Given the description of an element on the screen output the (x, y) to click on. 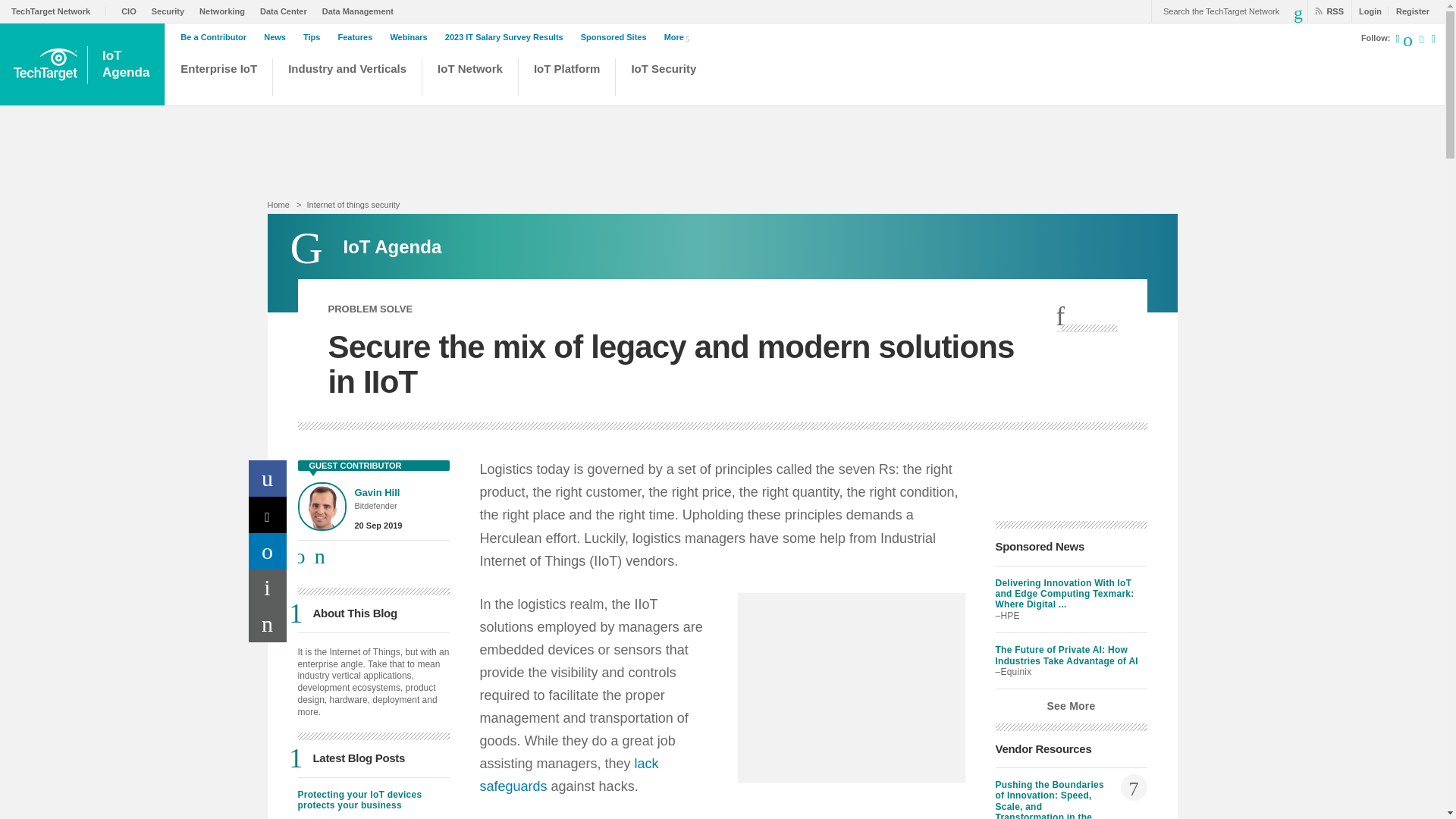
Enterprise IoT (218, 79)
Share on X (267, 514)
News (278, 36)
Share on Facebook (267, 478)
Sponsored Sites (616, 36)
RSS (1323, 10)
TechTarget Network (58, 10)
Register (1408, 10)
Webinars (411, 36)
More (679, 36)
Security (171, 10)
Networking (225, 10)
Features (358, 36)
Login (127, 64)
